Given the description of an element on the screen output the (x, y) to click on. 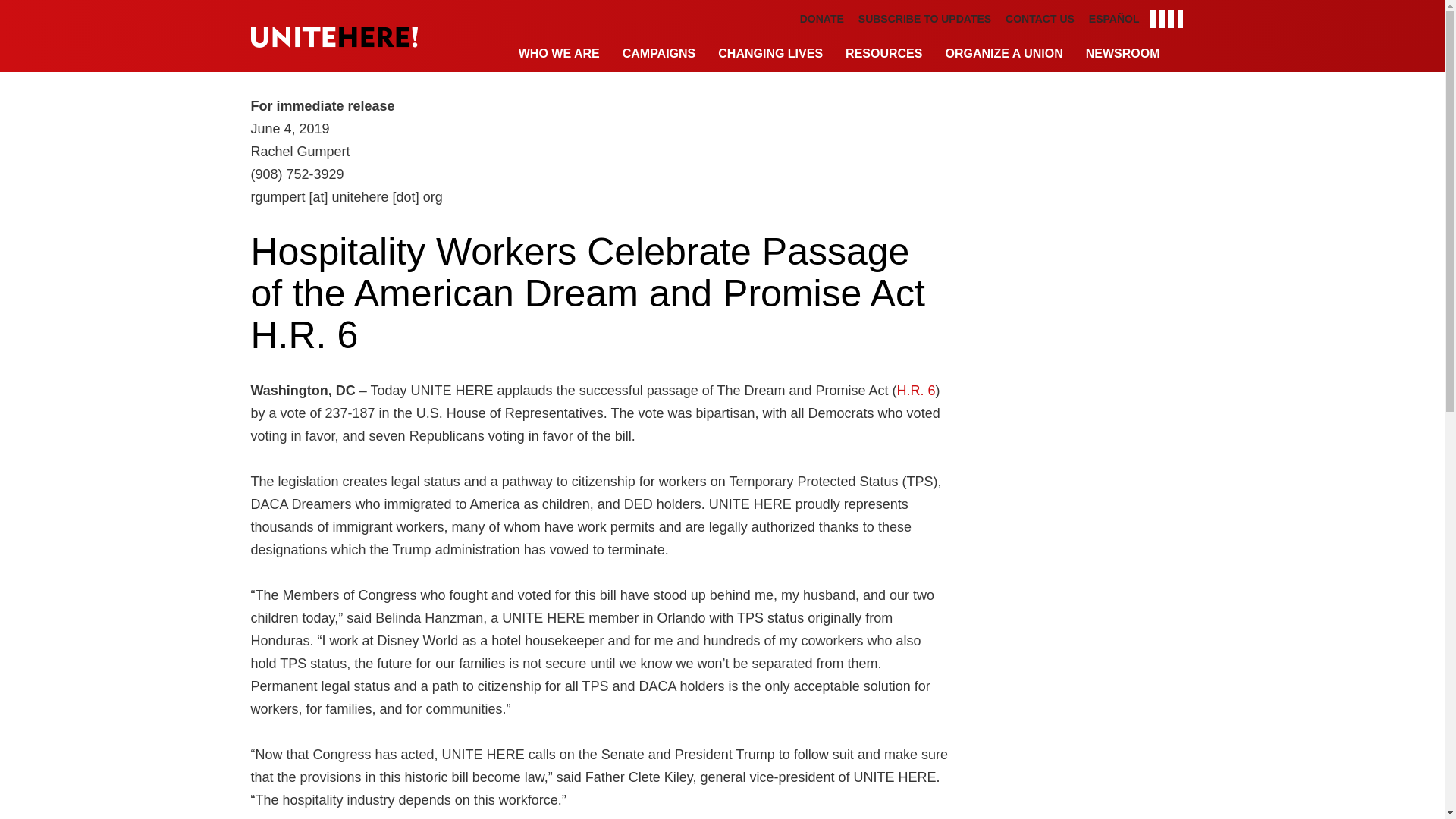
ORGANIZE A UNION (1003, 55)
DONATE (821, 19)
RESOURCES (883, 55)
UNITE HERE! (333, 36)
Skip to main content (721, 4)
CHANGING LIVES (770, 55)
CONTACT US (1040, 19)
WHO WE ARE (558, 55)
SUBSCRIBE TO UPDATES (925, 19)
CAMPAIGNS (659, 55)
NEWSROOM (1123, 55)
